Given the description of an element on the screen output the (x, y) to click on. 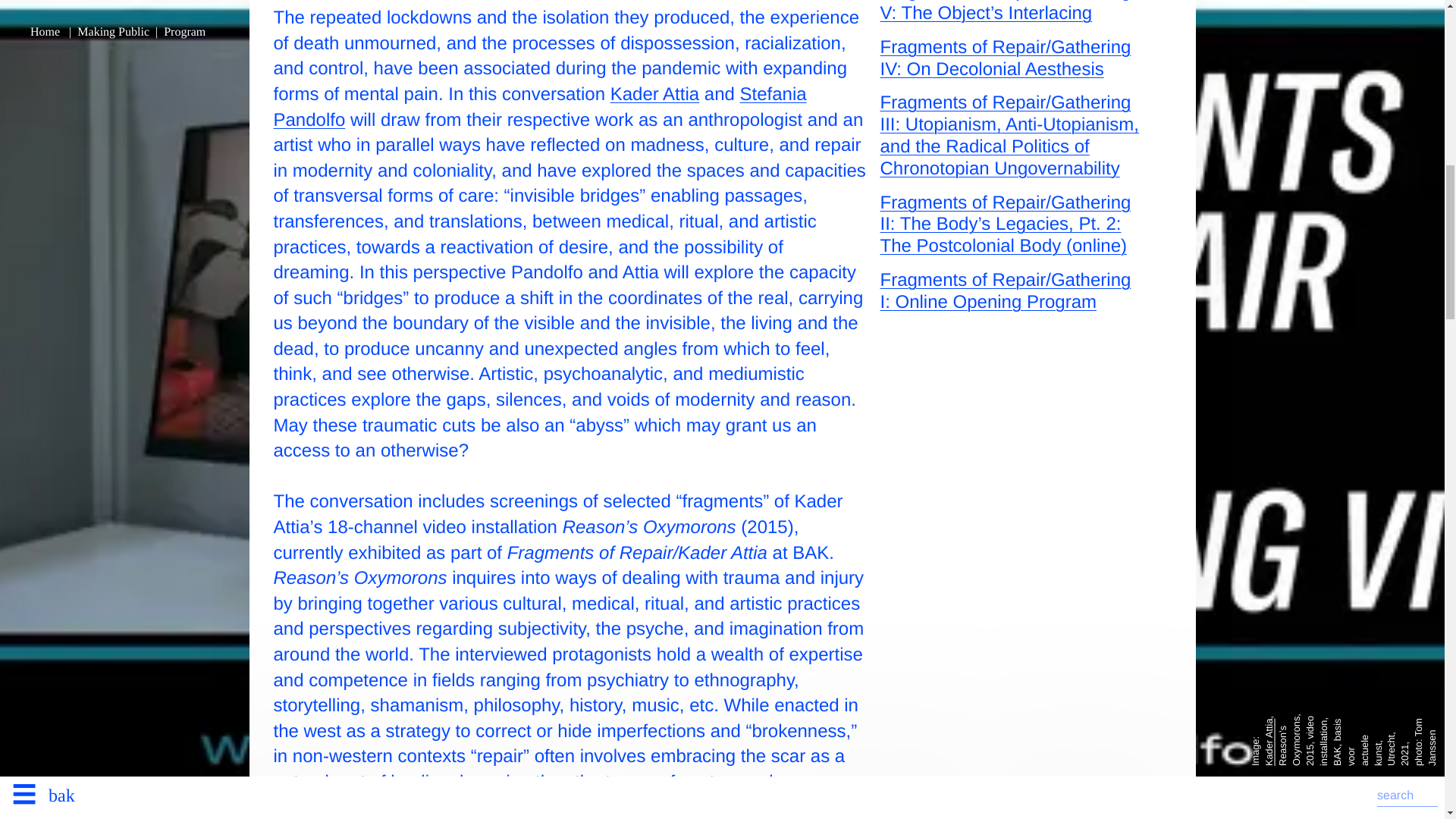
Young Fellows (932, 102)
Offline Publications (385, 65)
Program (341, 27)
Fellowship for Situated Practice (438, 102)
Stefania Pandolfo (539, 107)
Offline Publications (385, 65)
Accomplices (531, 140)
Kader Attia (654, 94)
Long-Term Projects (486, 26)
Visiting (333, 178)
Making Public (156, 30)
Prospections (545, 65)
Fellowship for Situated Practice (438, 102)
Community Portal (379, 140)
Program (341, 27)
